Given the description of an element on the screen output the (x, y) to click on. 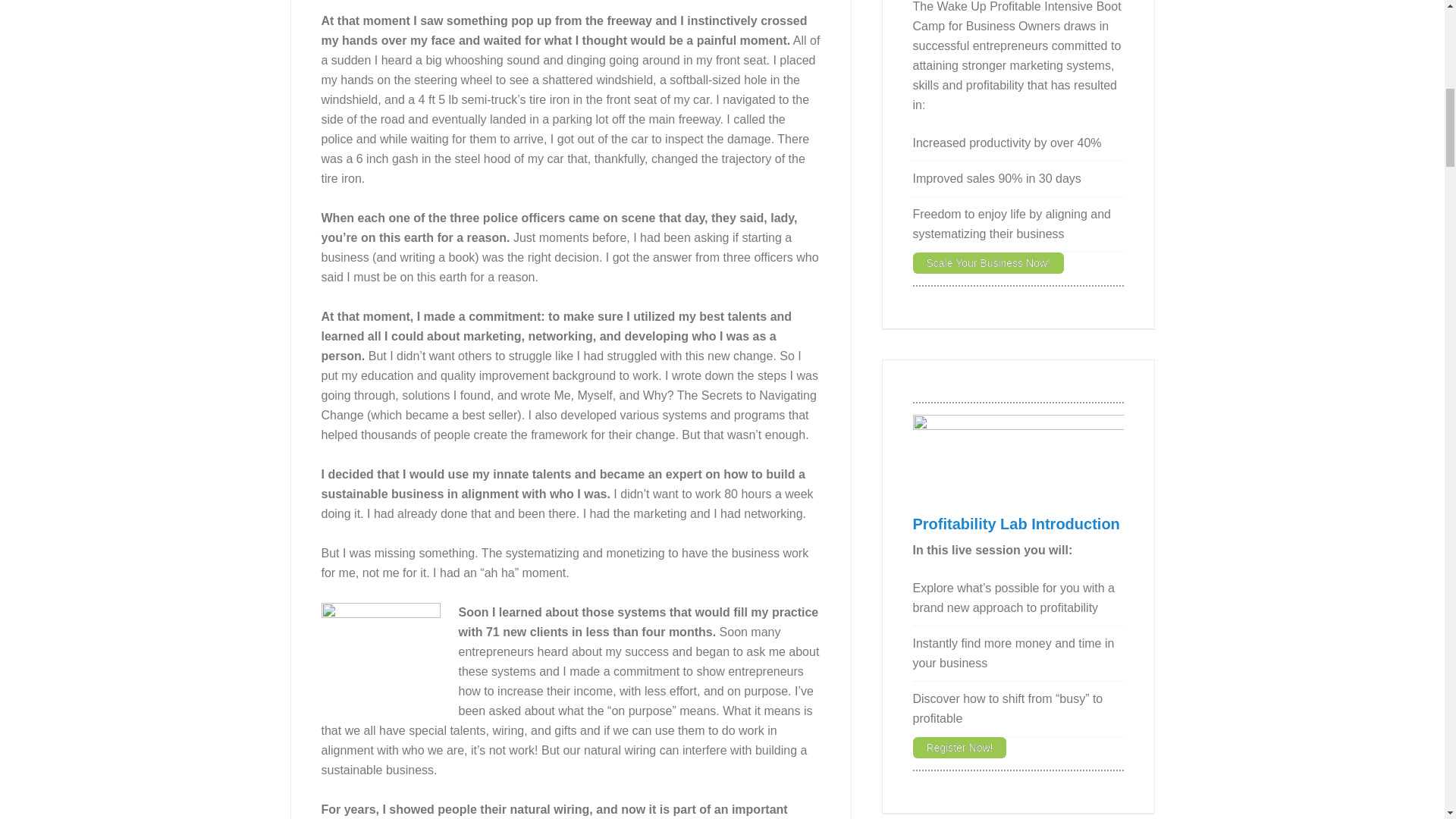
Register for the Profitability Lab Introduction (1015, 523)
Handshake (381, 654)
